Given the description of an element on the screen output the (x, y) to click on. 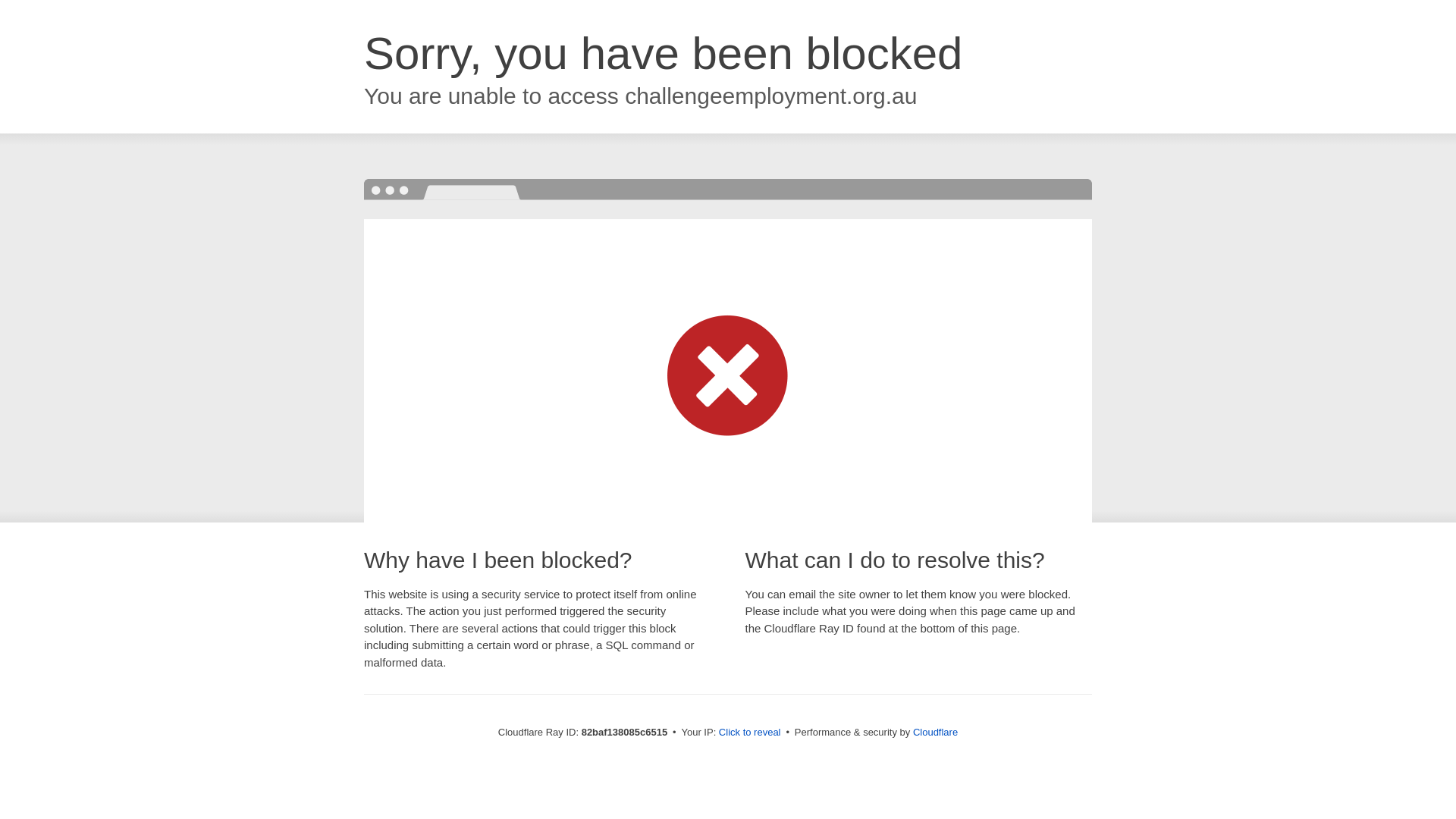
Cloudflare Element type: text (935, 731)
Click to reveal Element type: text (749, 732)
